Given the description of an element on the screen output the (x, y) to click on. 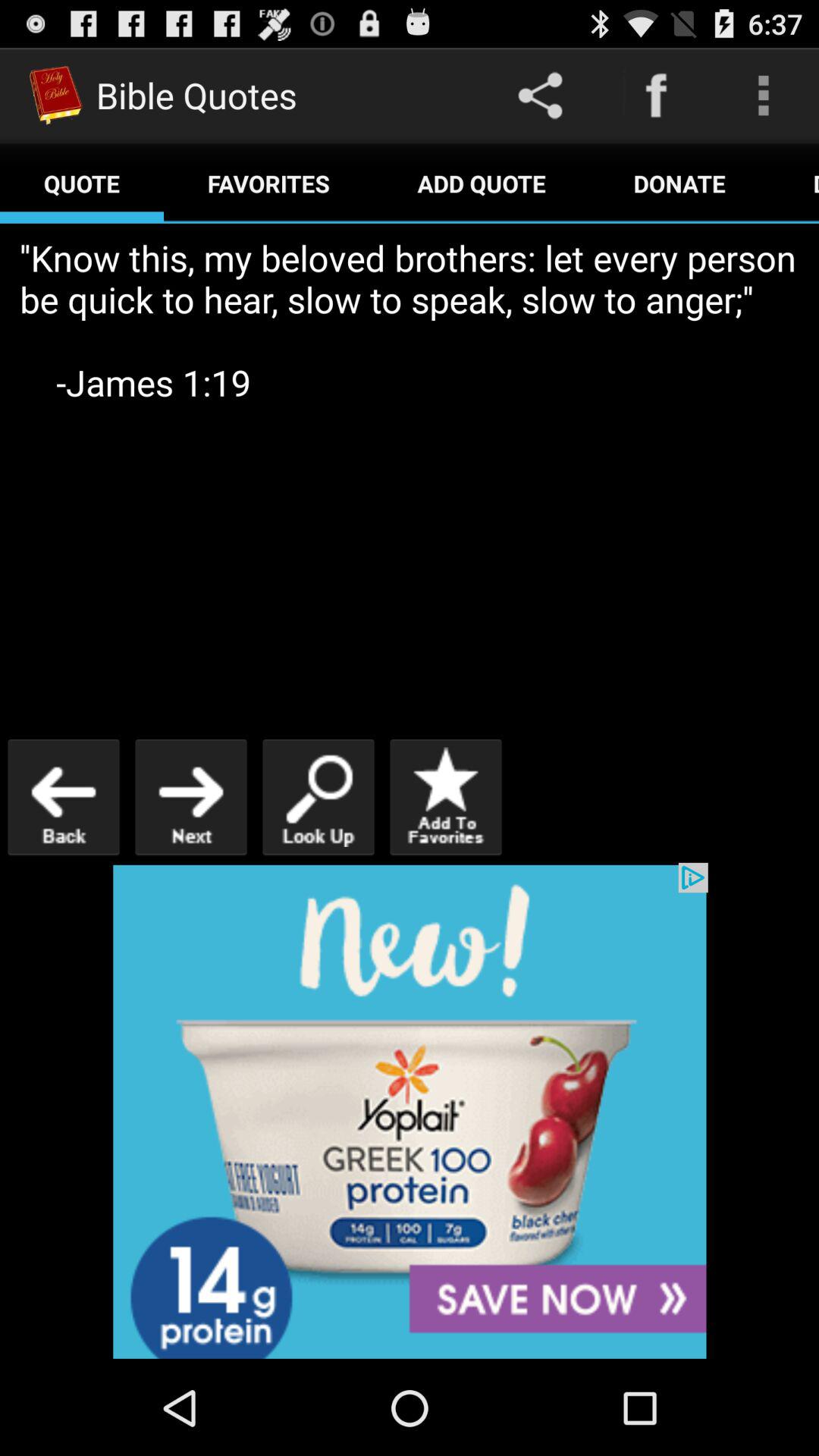
search (318, 796)
